Given the description of an element on the screen output the (x, y) to click on. 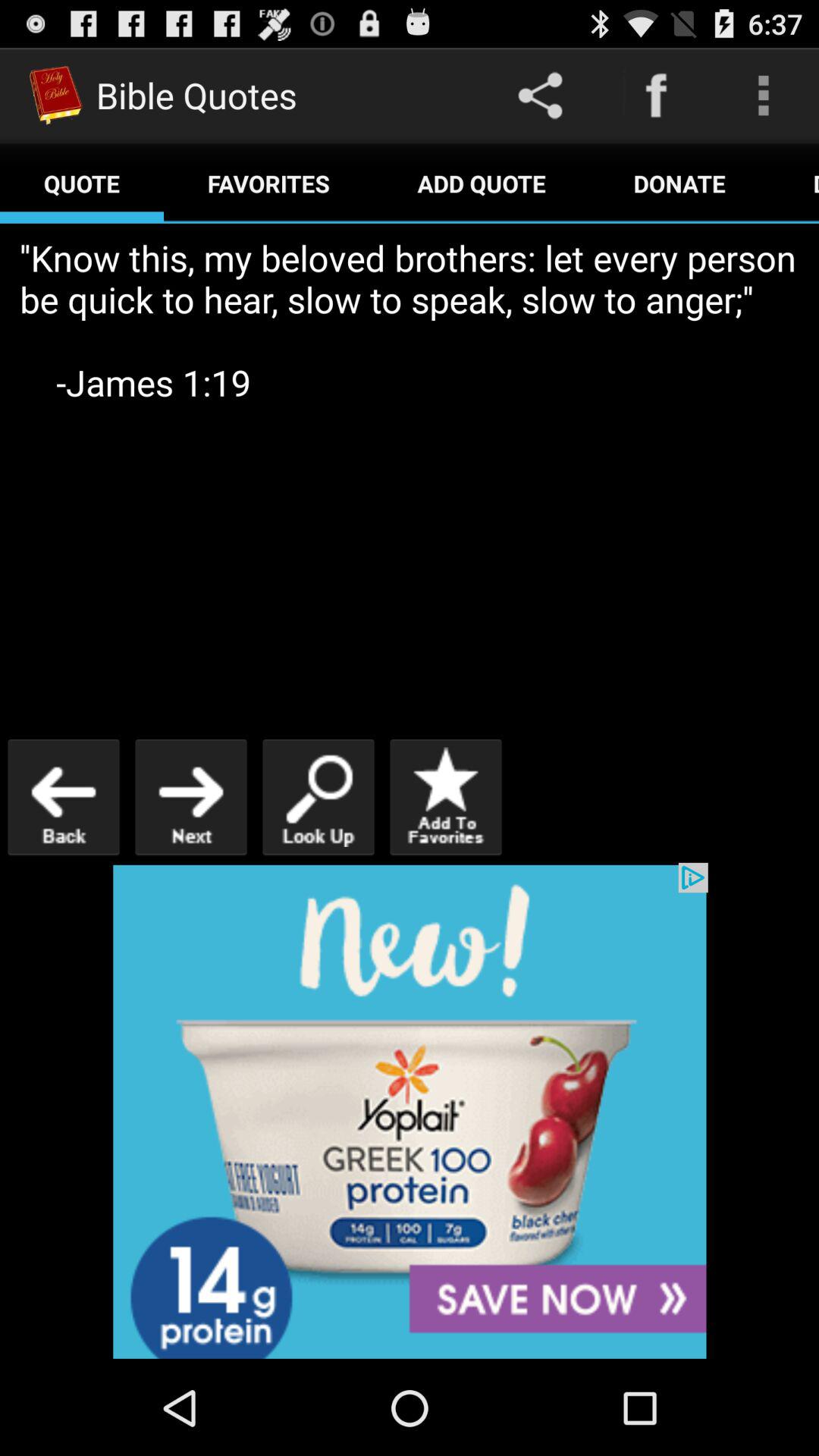
search (318, 796)
